Given the description of an element on the screen output the (x, y) to click on. 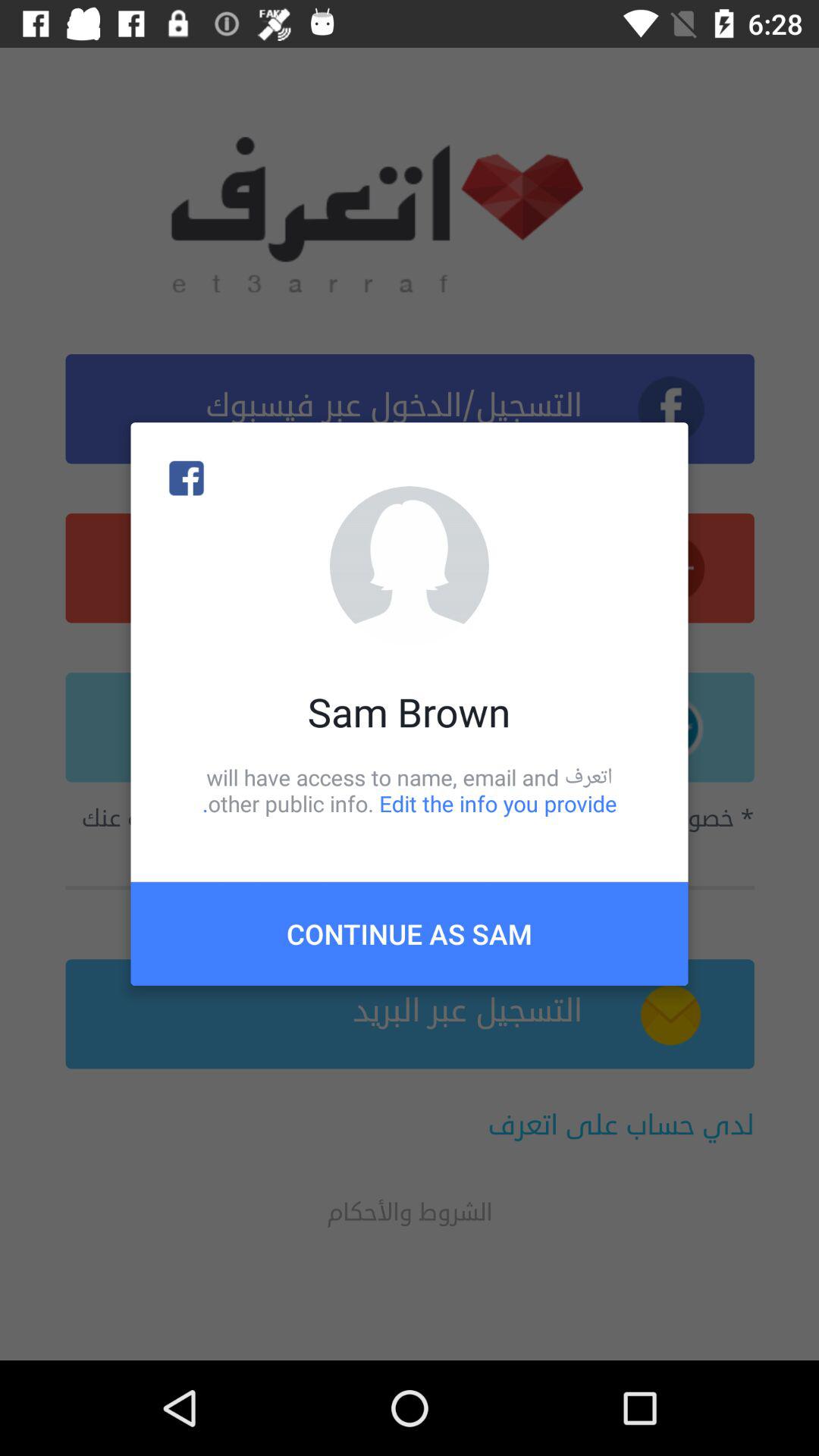
choose the item below the sam brown icon (409, 790)
